Given the description of an element on the screen output the (x, y) to click on. 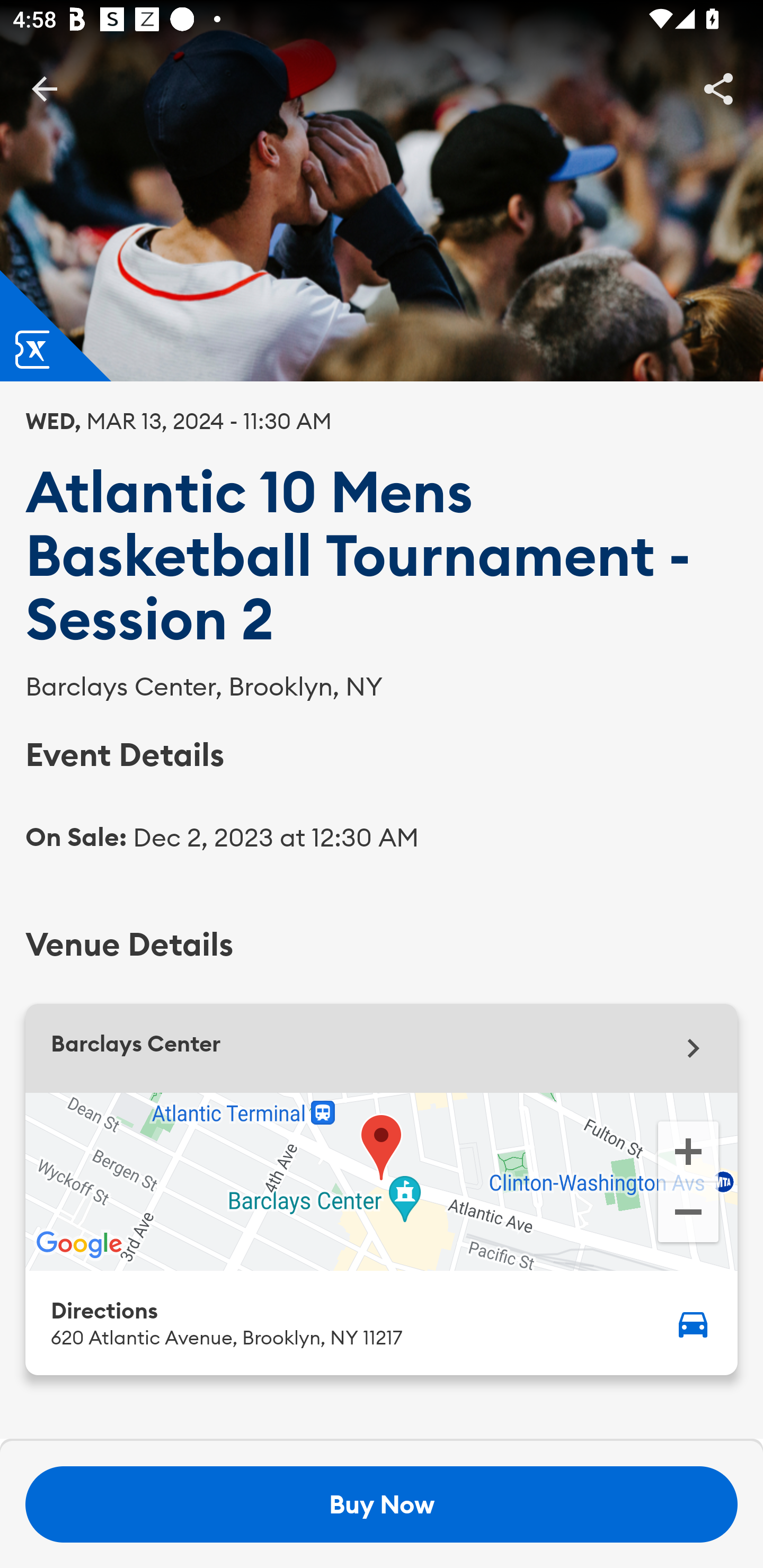
BackButton (44, 88)
Share (718, 88)
Barclays Center (381, 1047)
Google Map Barclays Center.  Zoom in Zoom out (381, 1181)
Zoom in (687, 1149)
Zoom out (687, 1214)
Directions 620 Atlantic Avenue, Brooklyn, NY 11217 (381, 1322)
Buy Now (381, 1504)
